Given the description of an element on the screen output the (x, y) to click on. 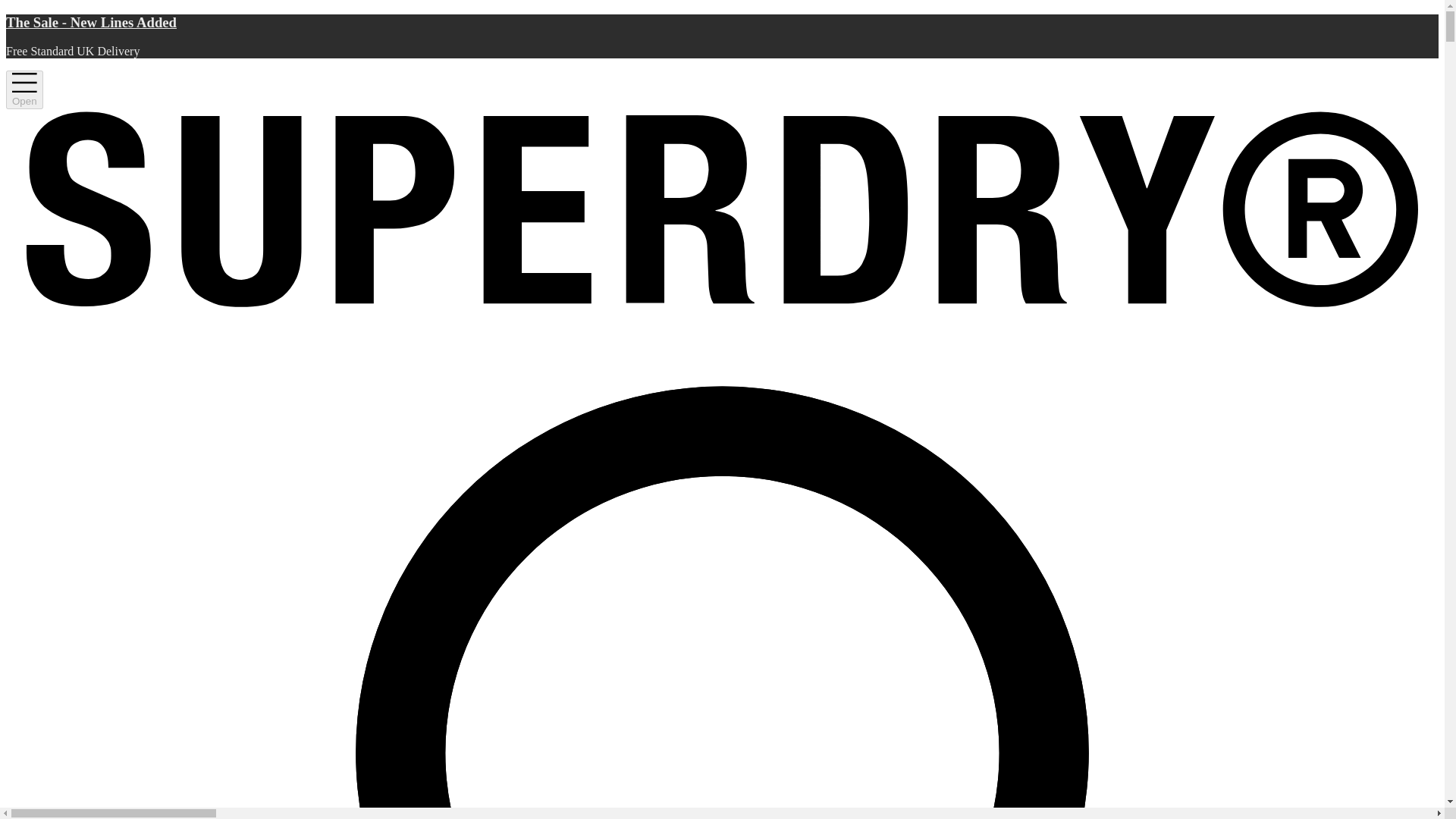
Open (24, 89)
Open (24, 89)
Hamburger (24, 89)
The Sale - New Lines Added (721, 22)
